Given the description of an element on the screen output the (x, y) to click on. 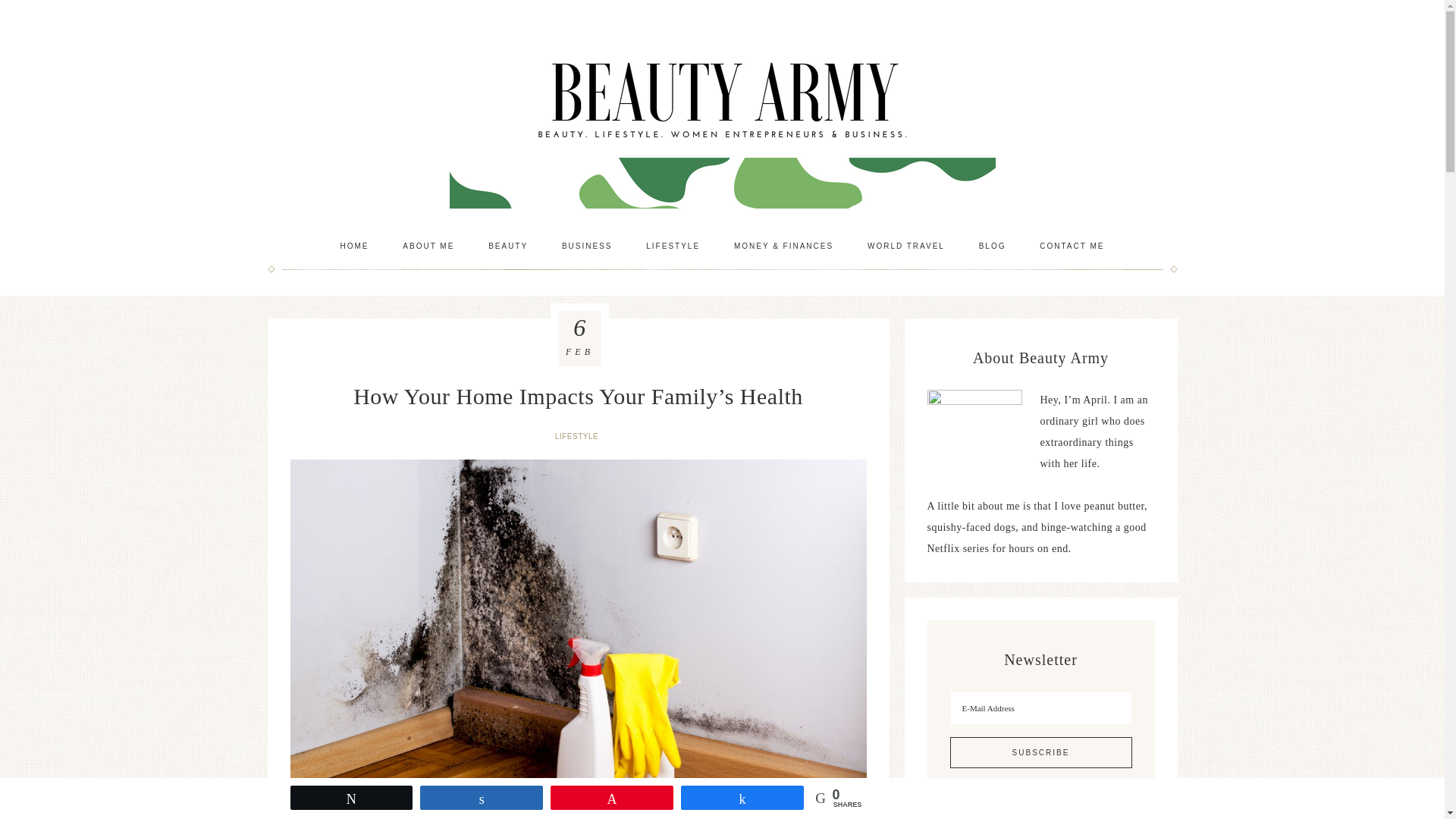
Subscribe (1040, 752)
BEAUTY (508, 246)
ABOUT ME (427, 246)
BUSINESS (587, 246)
HOME (354, 246)
CONTACT ME (1072, 246)
WORLD TRAVEL (905, 246)
Subscribe (1040, 752)
LIFESTYLE (577, 436)
LIFESTYLE (672, 246)
BLOG (992, 246)
